Given the description of an element on the screen output the (x, y) to click on. 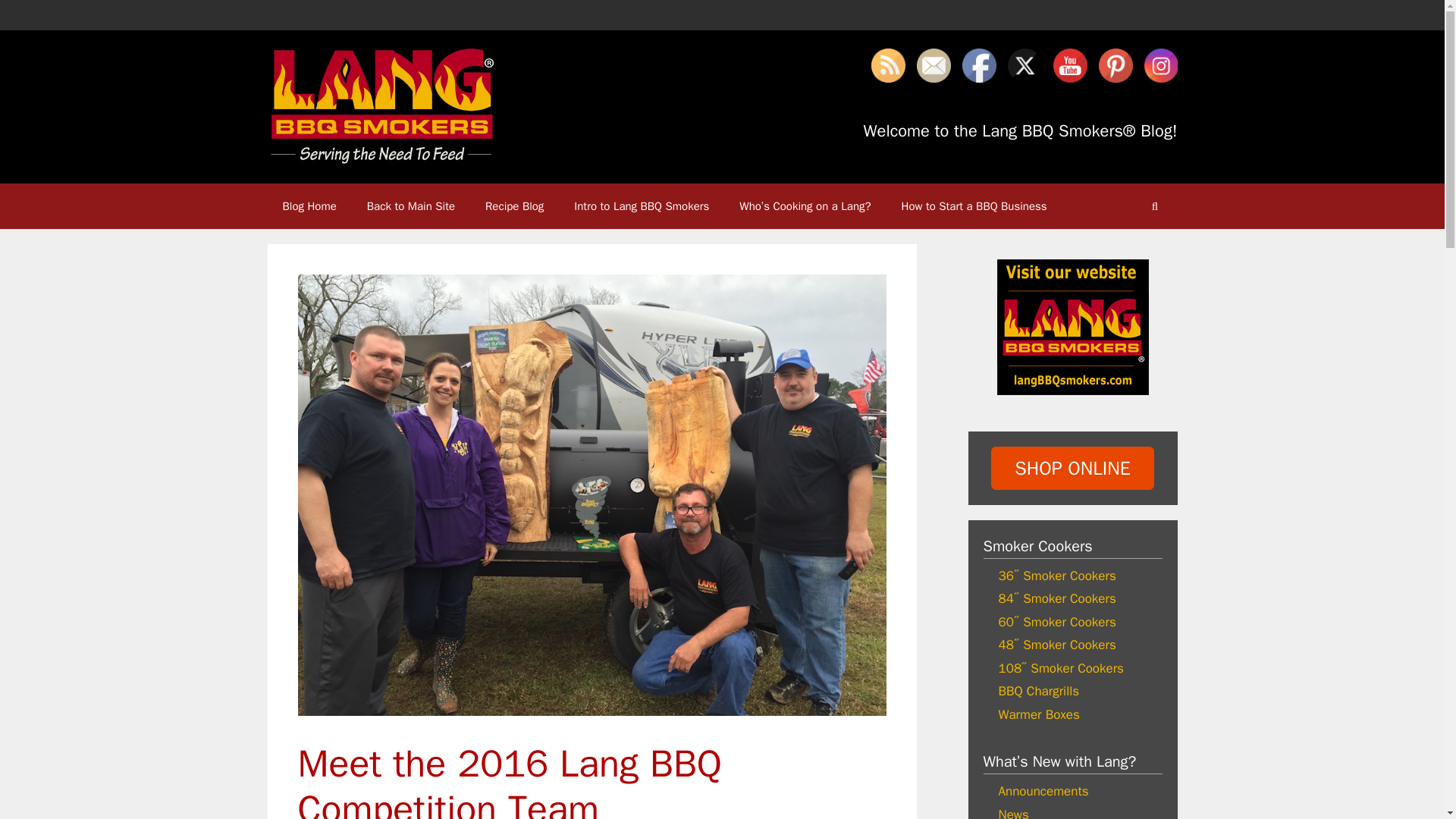
How to Start a BBQ Business (974, 206)
YouTube (1069, 65)
Recipe Blog (514, 206)
Instagram (1159, 65)
SHOP ONLINE (1072, 467)
Intro to Lang BBQ Smokers (641, 206)
Announcements (1042, 790)
Follow by Email (932, 65)
Back to Main Site (411, 206)
BBQ Chargrills (1037, 691)
RSS (887, 65)
Blog Home (308, 206)
Twitter (1024, 65)
News (1012, 812)
Warmer Boxes (1037, 714)
